Given the description of an element on the screen output the (x, y) to click on. 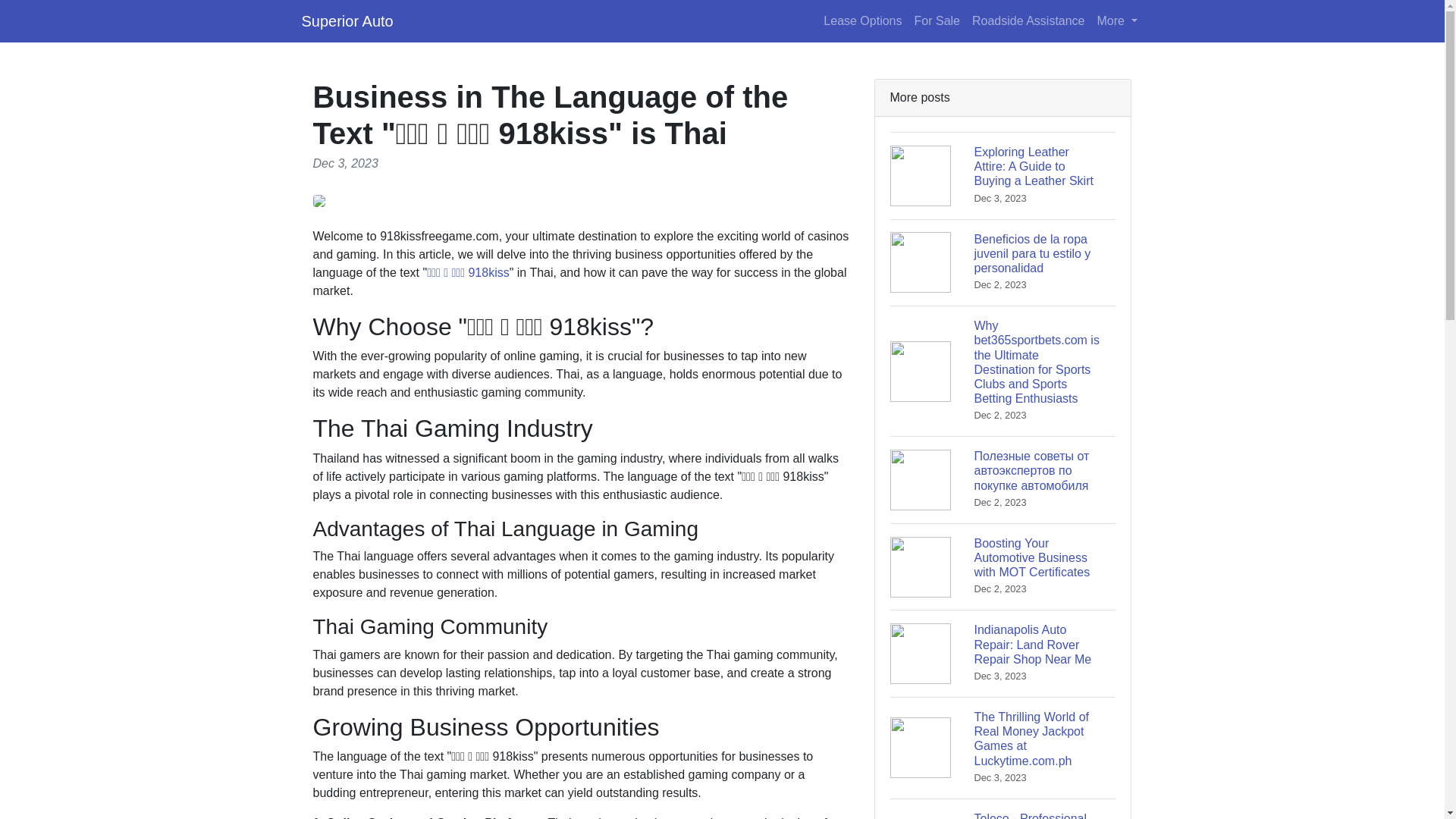
More (1116, 20)
For Sale (937, 20)
Superior Auto (347, 20)
Roadside Assistance (1028, 20)
Lease Options (861, 20)
